Given the description of an element on the screen output the (x, y) to click on. 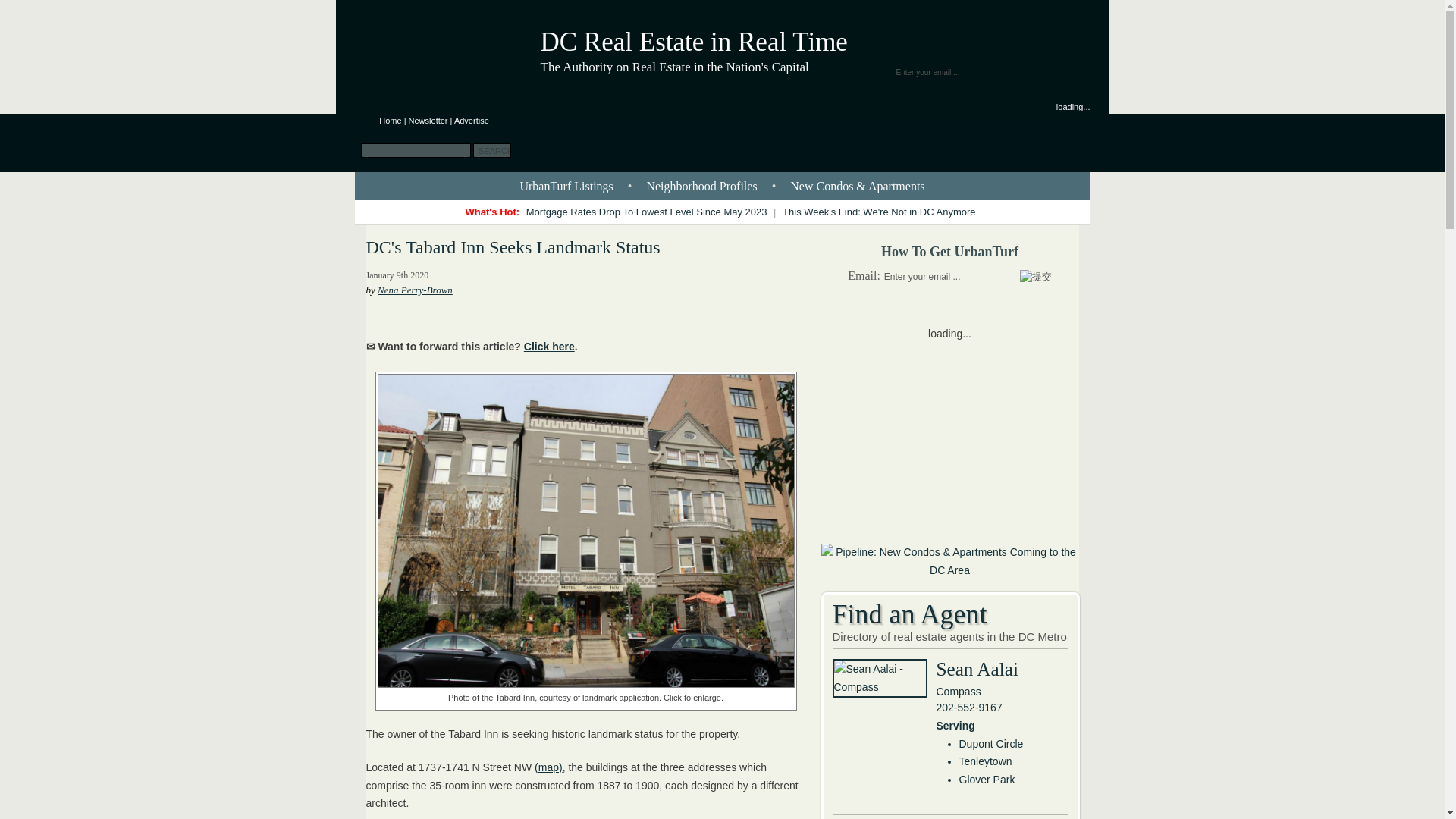
Enter your email ... (949, 276)
Click here (549, 346)
Newsletter (428, 120)
Search (492, 150)
UrbanTurf Pipeline (949, 570)
Neighborhood Profiles (701, 185)
Advertise (471, 120)
Mortgage Rates Drop To Lowest Level Since May 2023 (646, 211)
Nena Perry-Brown (414, 289)
